Given the description of an element on the screen output the (x, y) to click on. 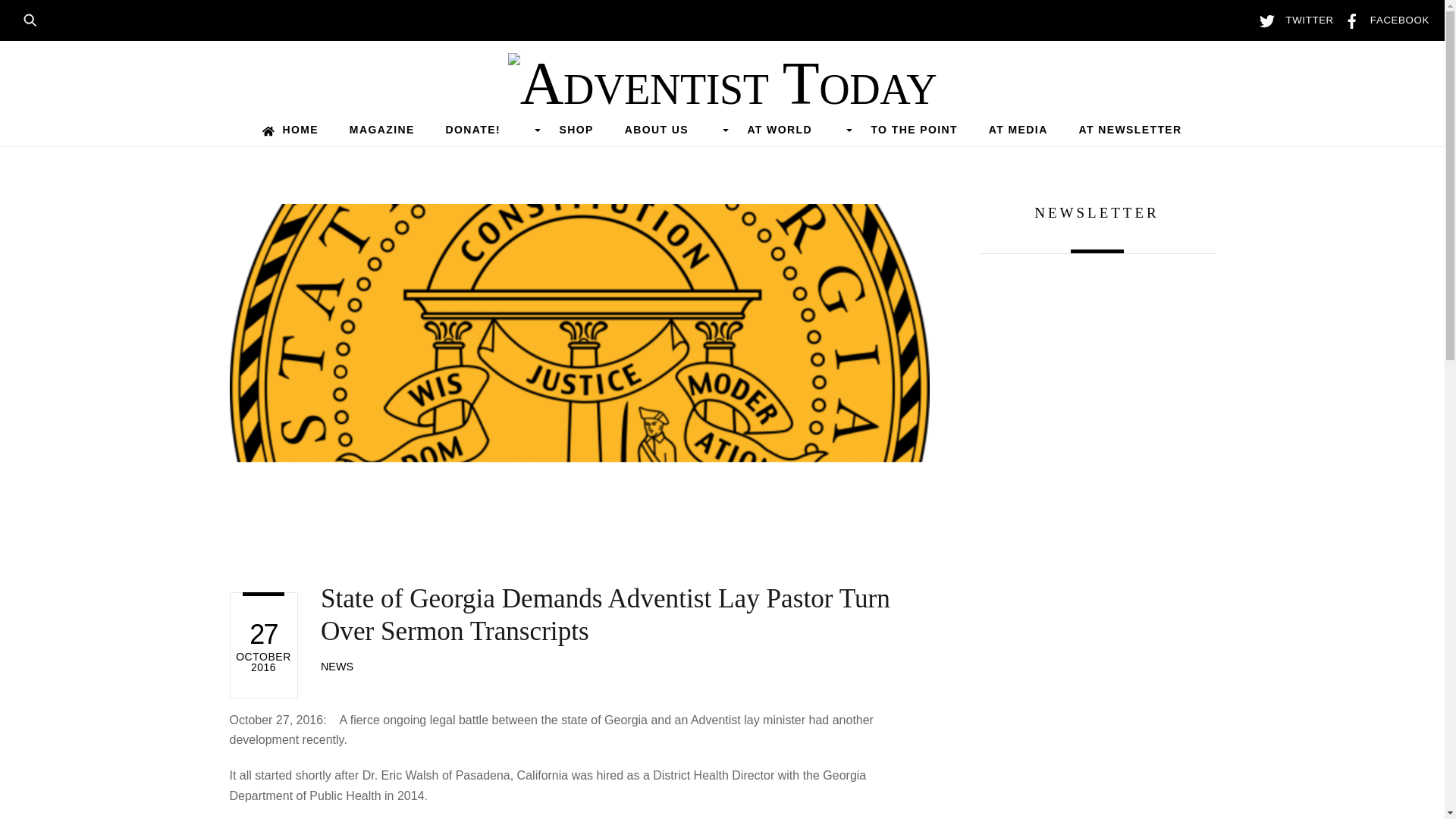
ABOUT US (669, 129)
MAGAZINE (381, 129)
DONATE! (486, 129)
Adventist Today (722, 83)
FACEBOOK (1382, 19)
Search (35, 18)
SHOP (576, 129)
TWITTER (1292, 19)
NEWS (336, 666)
HOME (290, 129)
AT WORLD (793, 129)
AT MEDIA (1017, 129)
AT NEWSLETTER (1129, 129)
TO THE POINT (913, 129)
